Given the description of an element on the screen output the (x, y) to click on. 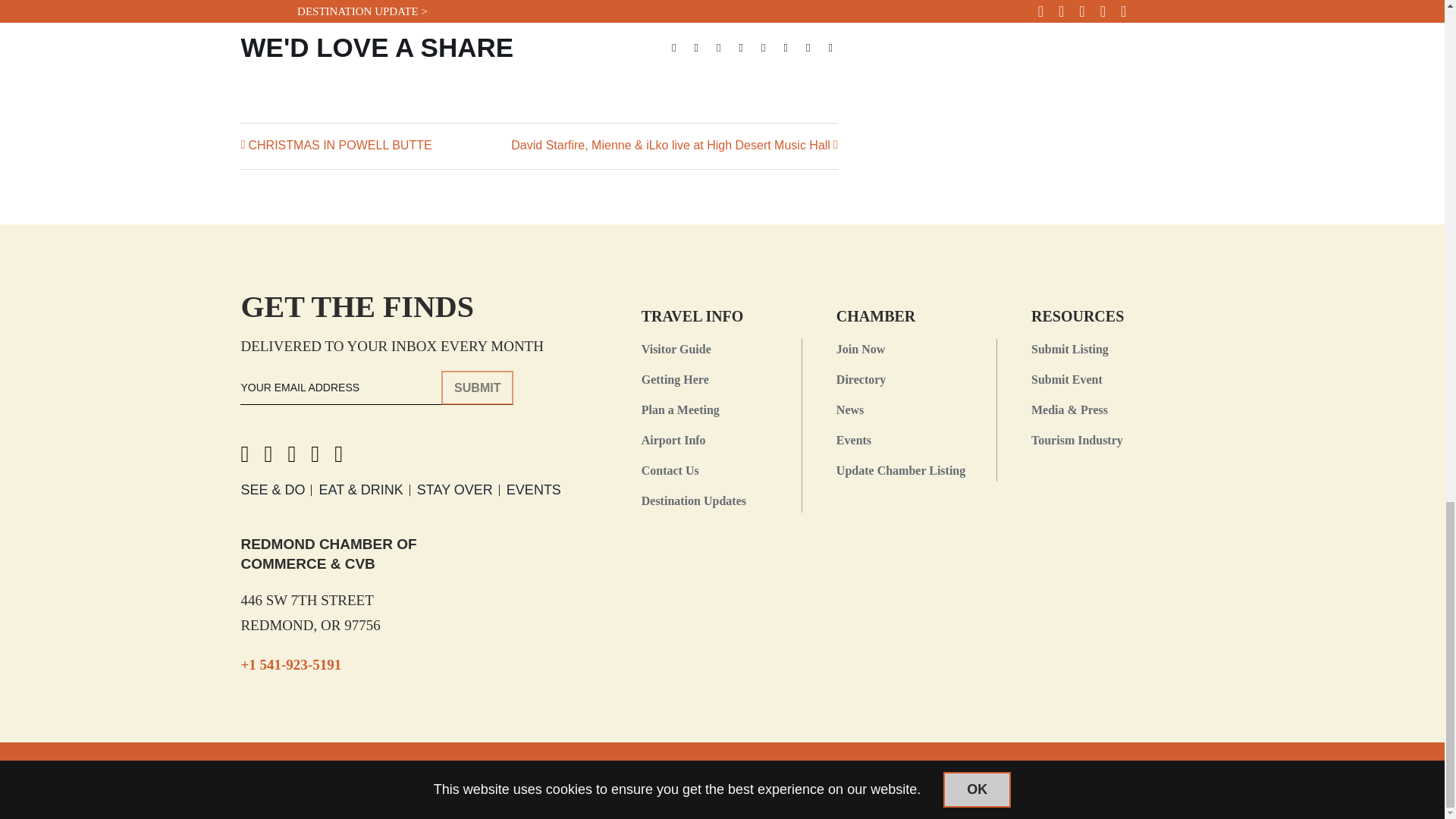
Submit (477, 387)
